Given the description of an element on the screen output the (x, y) to click on. 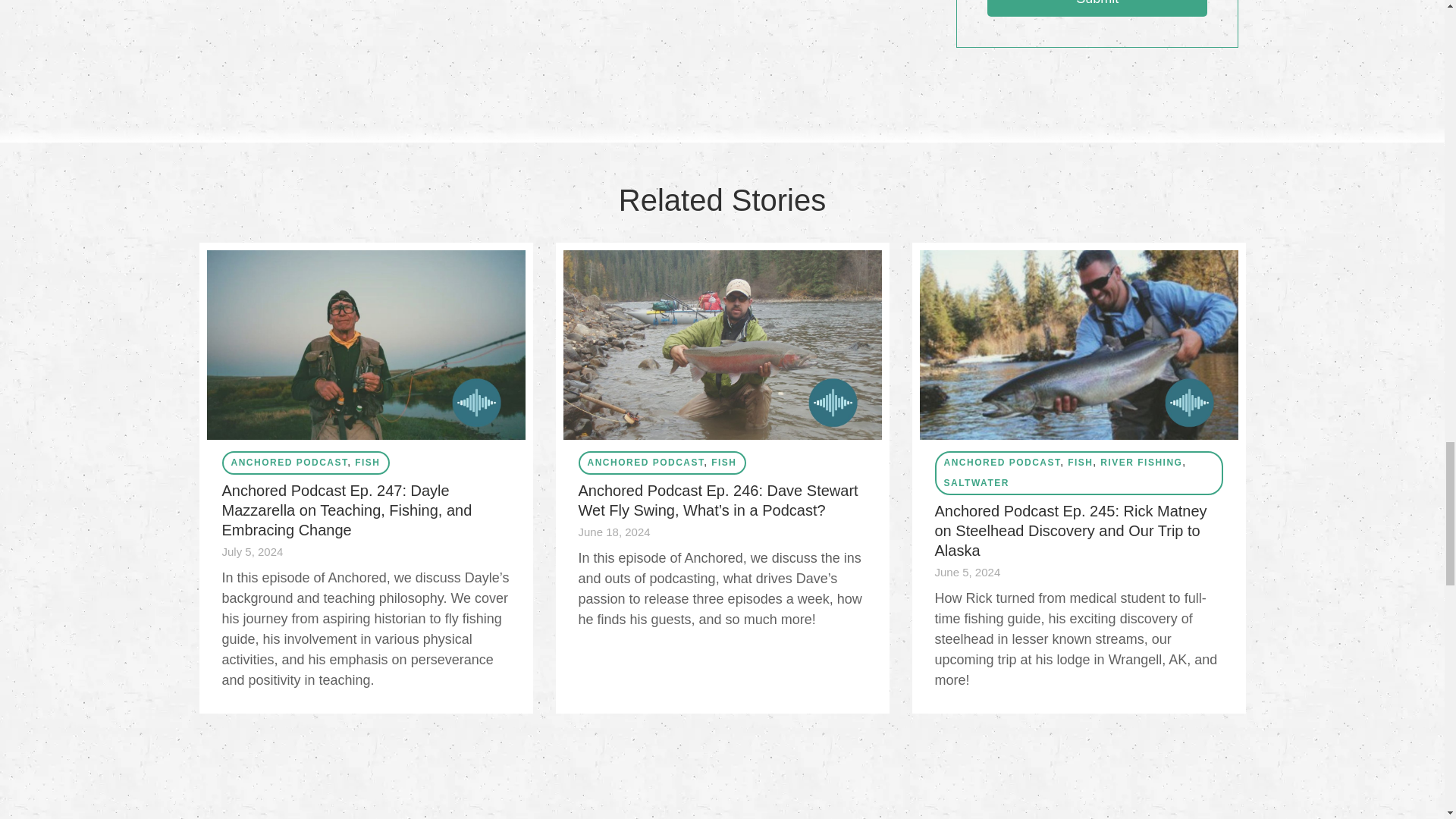
July 5, 2024 (251, 552)
RIVER FISHING (1141, 462)
ANCHORED PODCAST (644, 462)
June 5, 2024 (967, 572)
SALTWATER (976, 482)
Submit (1097, 8)
FISH (723, 462)
FISH (367, 462)
ANCHORED PODCAST (1001, 462)
ANCHORED PODCAST (288, 462)
June 18, 2024 (613, 532)
FISH (1080, 462)
